Given the description of an element on the screen output the (x, y) to click on. 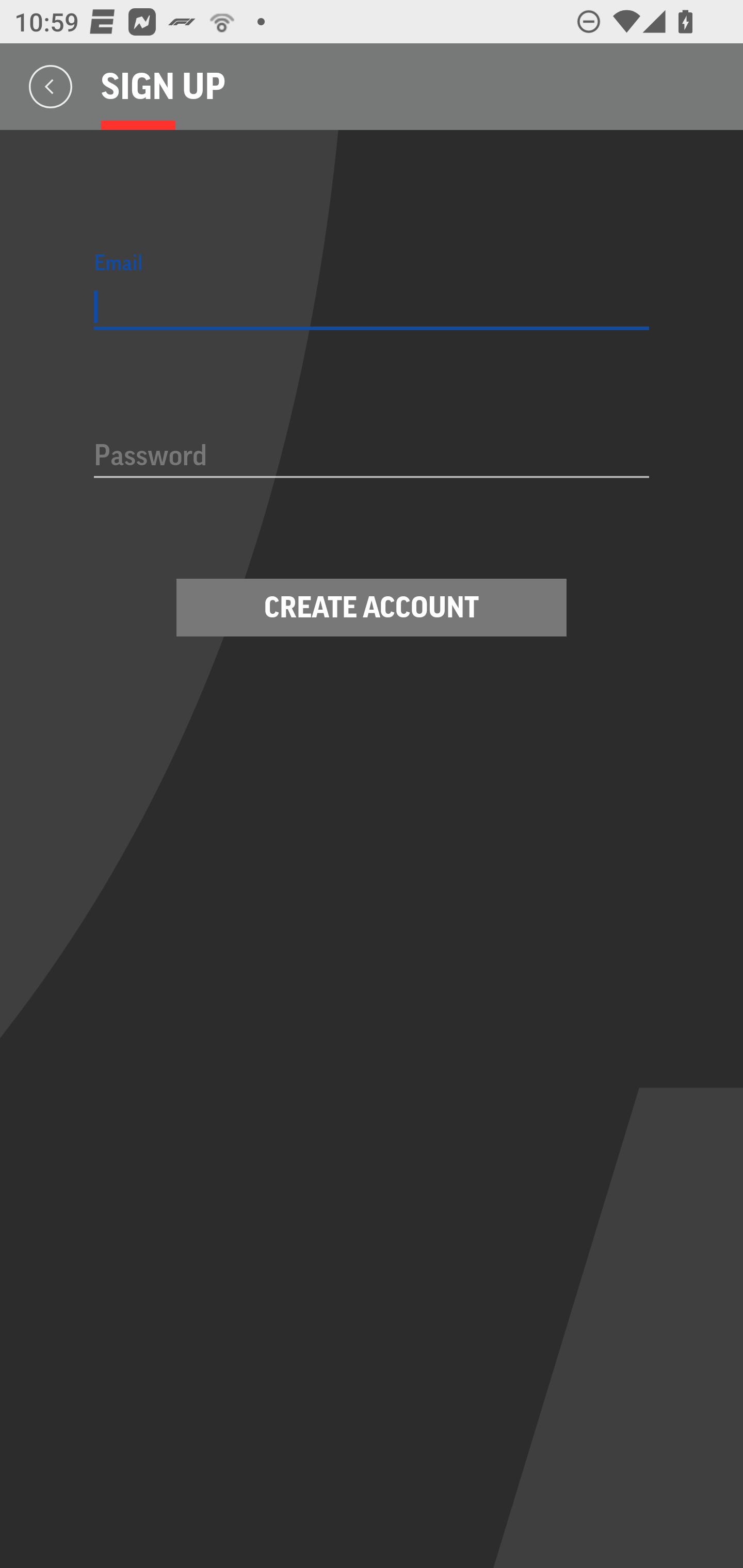
Email (371, 306)
Password (371, 456)
CREATE ACCOUNT (371, 607)
